Given the description of an element on the screen output the (x, y) to click on. 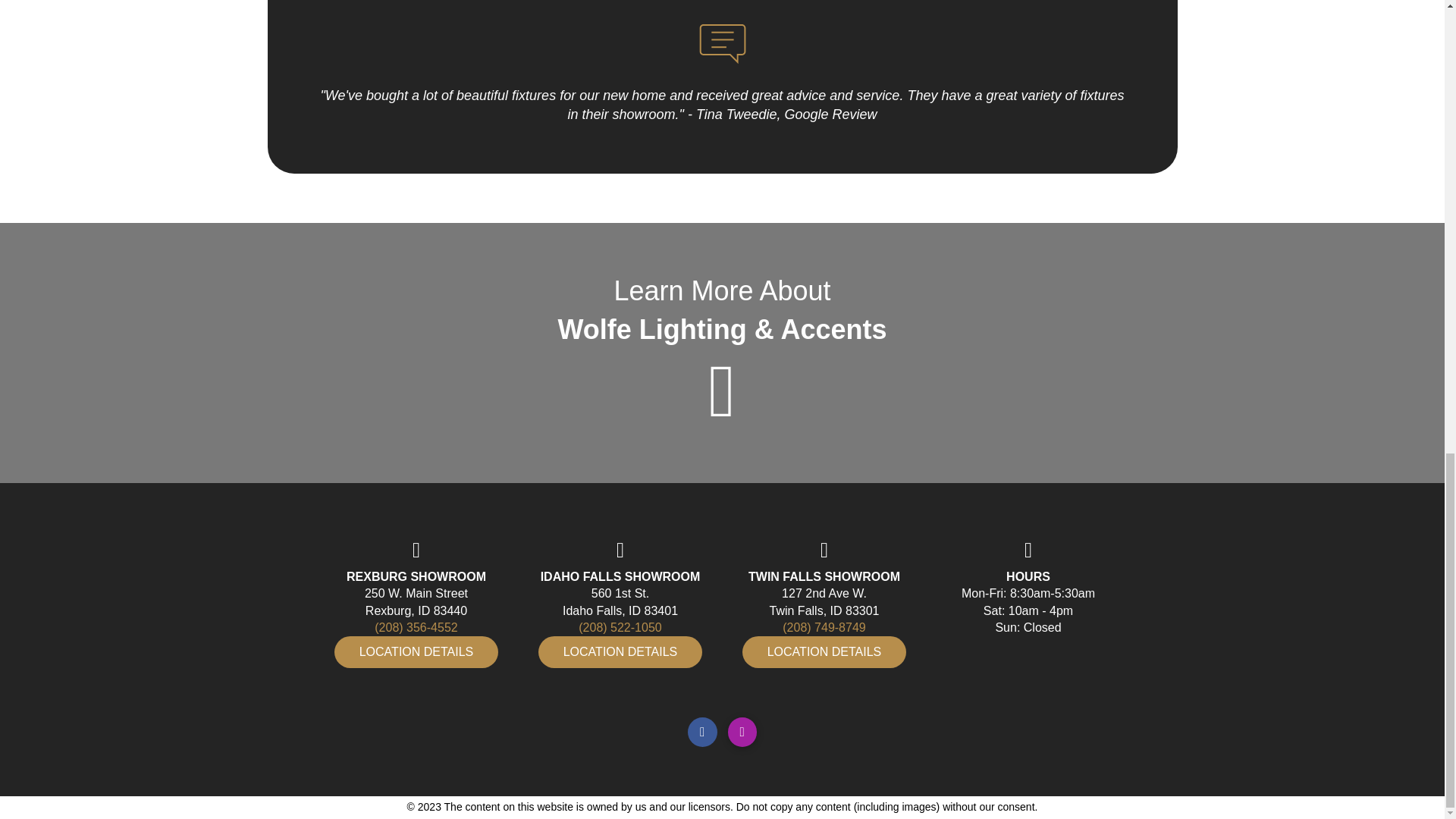
LOCATION DETAILS (824, 652)
LOCATION DETAILS (620, 652)
LOCATION DETAILS (416, 652)
